Given the description of an element on the screen output the (x, y) to click on. 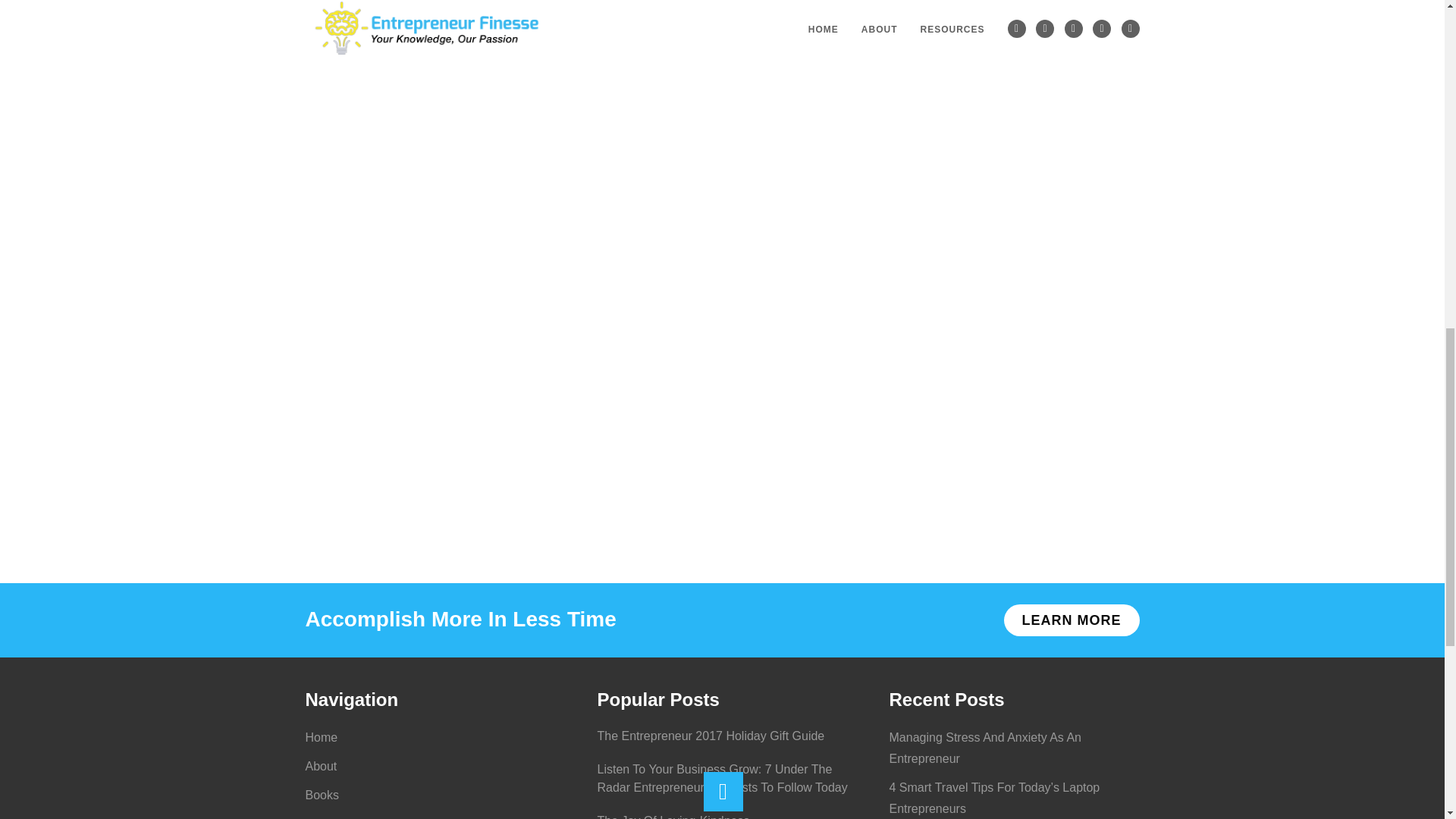
Lifehacks (330, 818)
Home (320, 737)
LEARN MORE (1072, 620)
About (320, 766)
Books (320, 794)
